Given the description of an element on the screen output the (x, y) to click on. 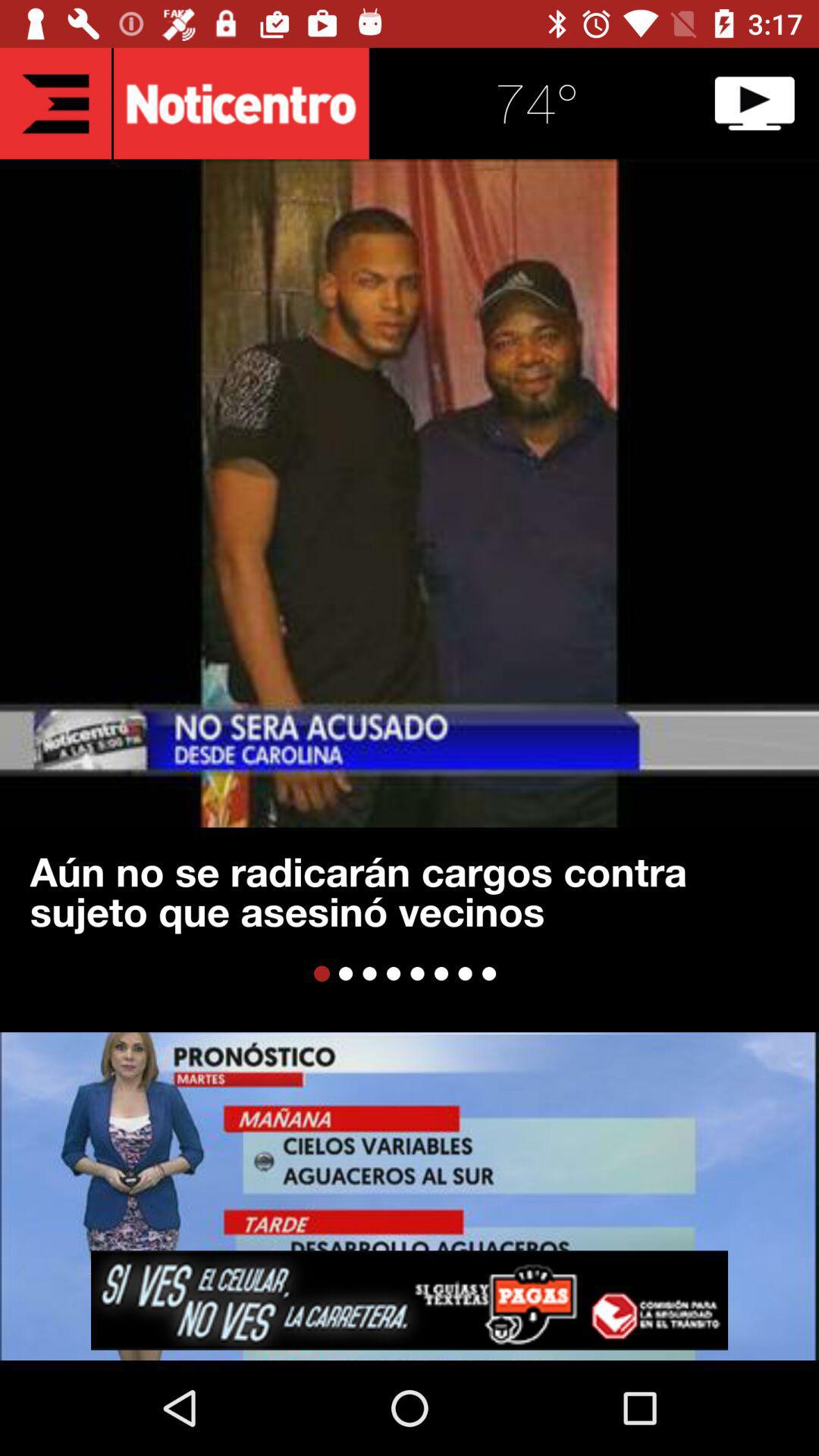
show menu (55, 103)
